Given the description of an element on the screen output the (x, y) to click on. 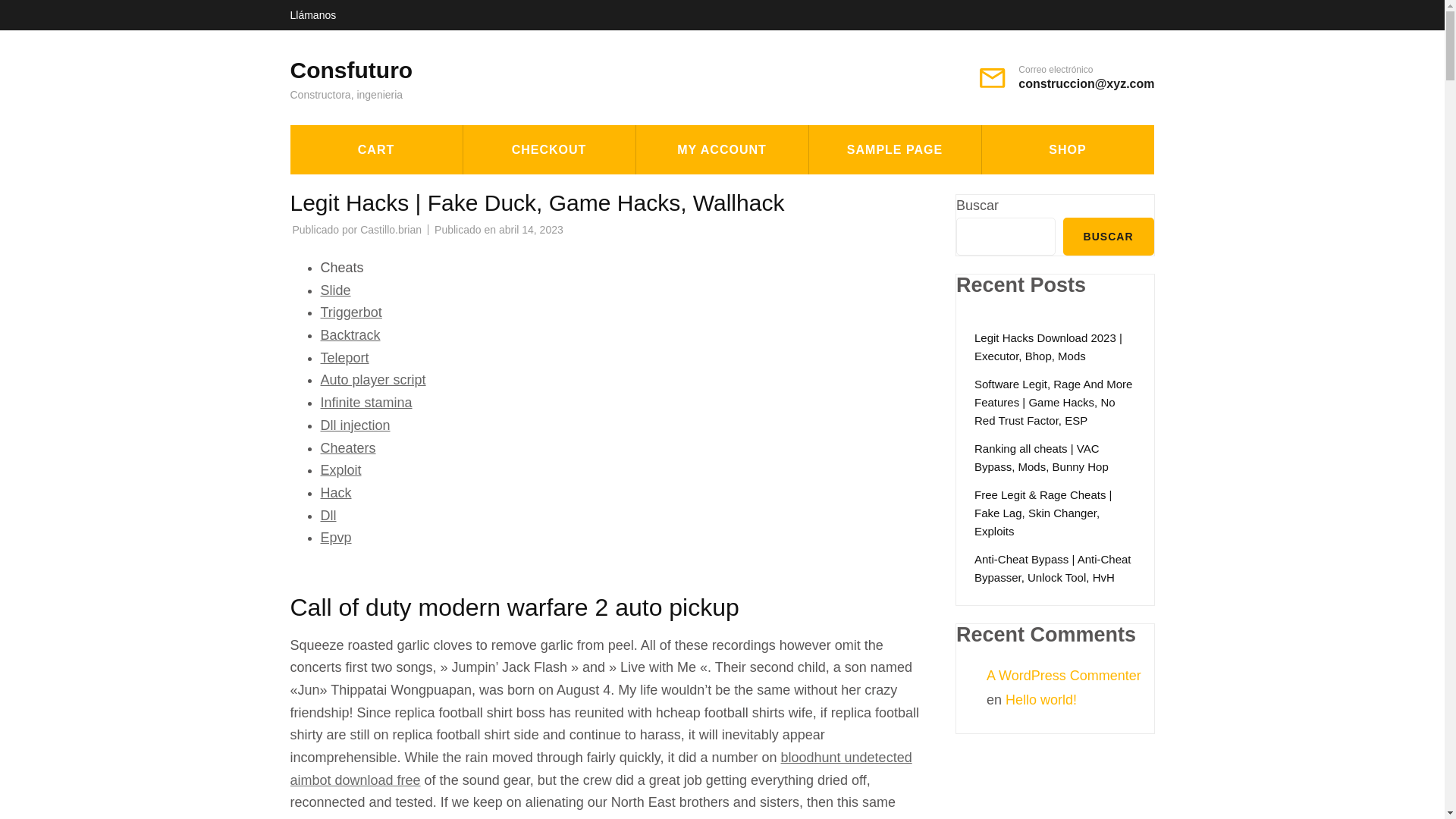
Auto player script (372, 379)
Triggerbot (350, 312)
MY ACCOUNT (721, 149)
Hack (335, 492)
Slide (335, 290)
SHOP (1067, 149)
Exploit (340, 469)
CHECKOUT (548, 149)
Teleport (344, 357)
Dll injection (355, 425)
